Given the description of an element on the screen output the (x, y) to click on. 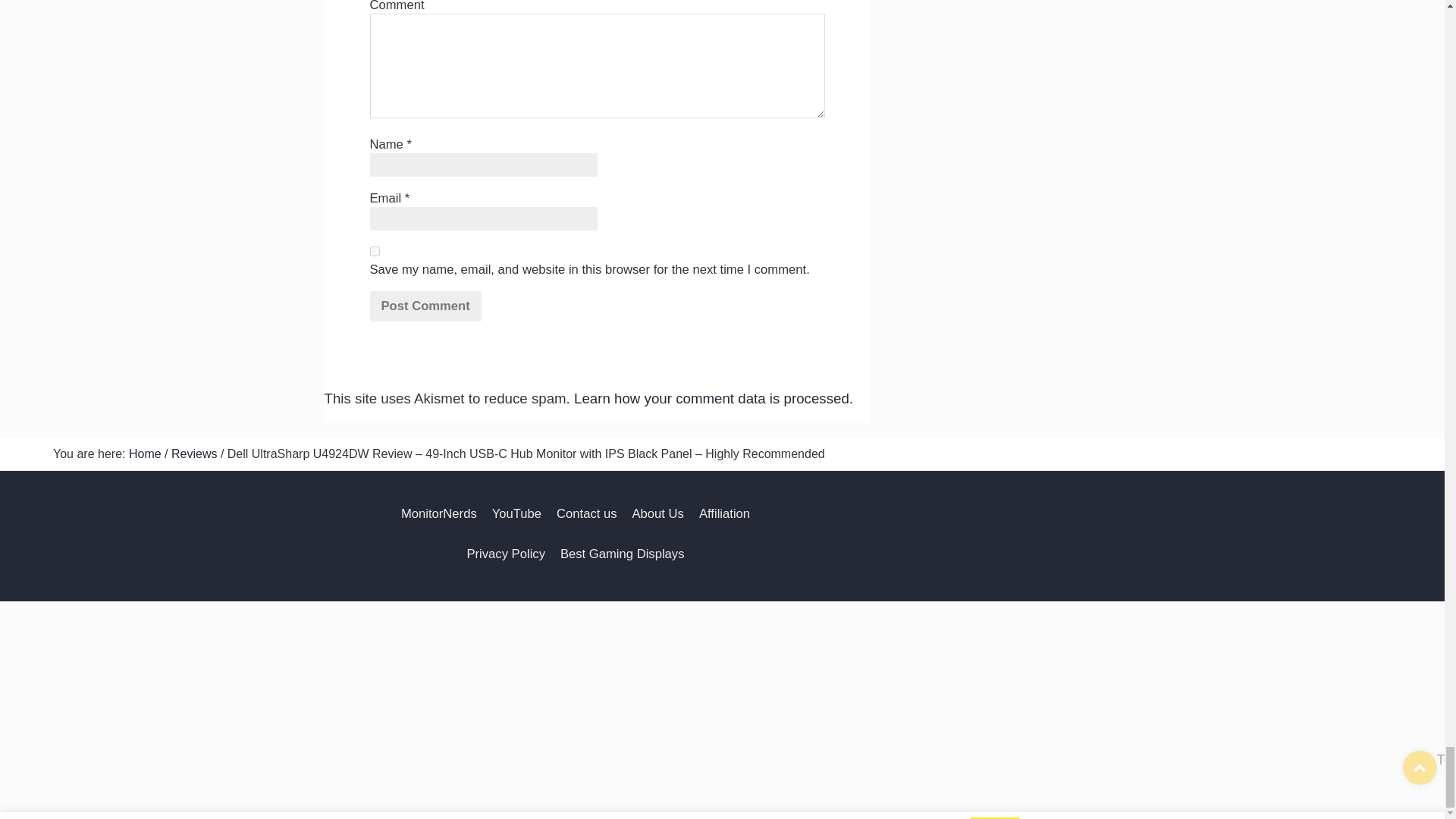
Post Comment (425, 306)
yes (374, 251)
Learn how your comment data is processed (710, 398)
Post Comment (425, 306)
